Given the description of an element on the screen output the (x, y) to click on. 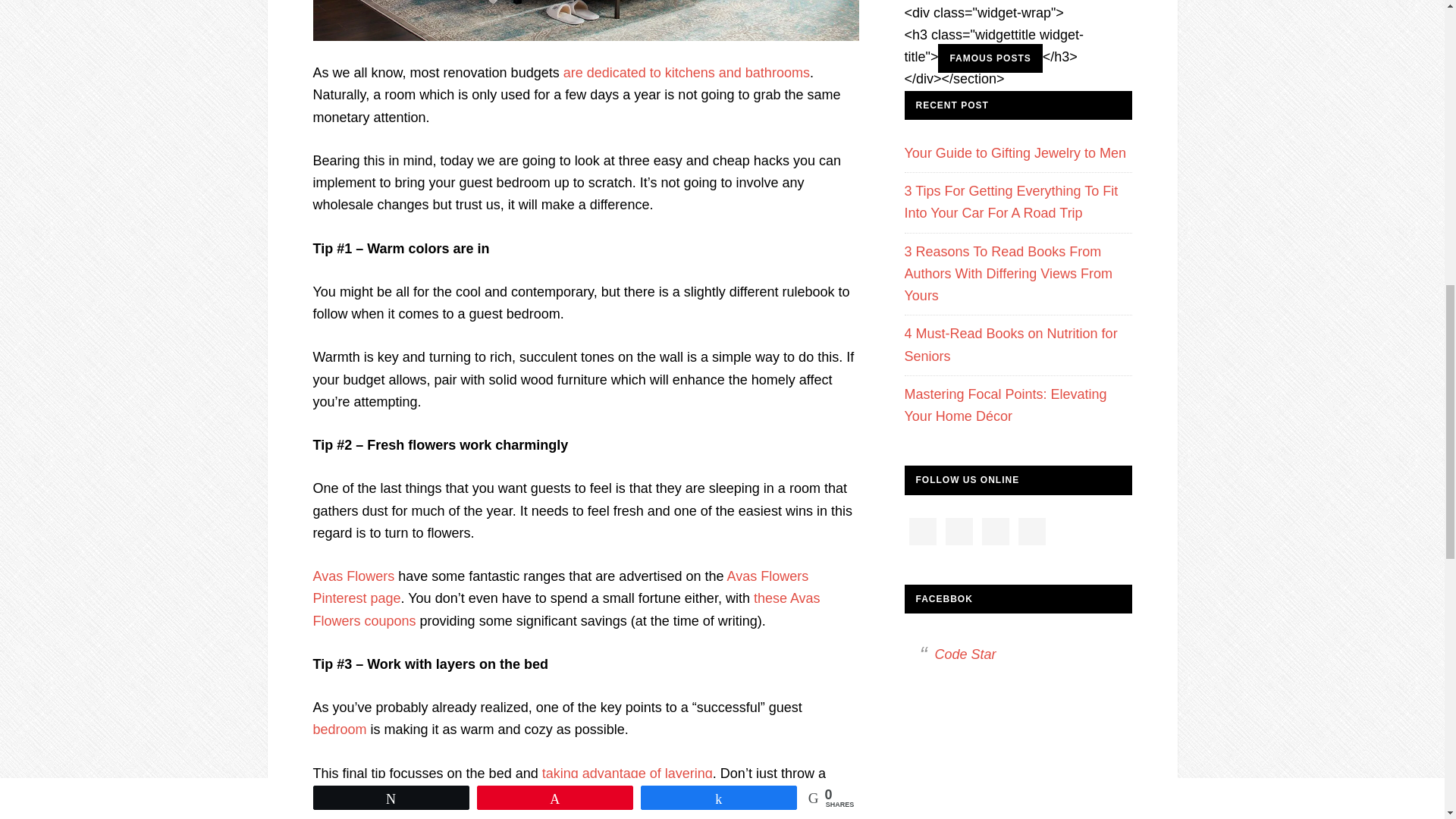
are dedicated to kitchens and bathrooms (686, 72)
Avas Flowers (353, 575)
Your Guide to Gifting Jewelry to Men (1014, 152)
Code Star (964, 654)
these Avas Flowers coupons (566, 609)
4 Must-Read Books on Nutrition for Seniors (1010, 344)
bedroom (339, 729)
taking advantage of layering (627, 773)
